Given the description of an element on the screen output the (x, y) to click on. 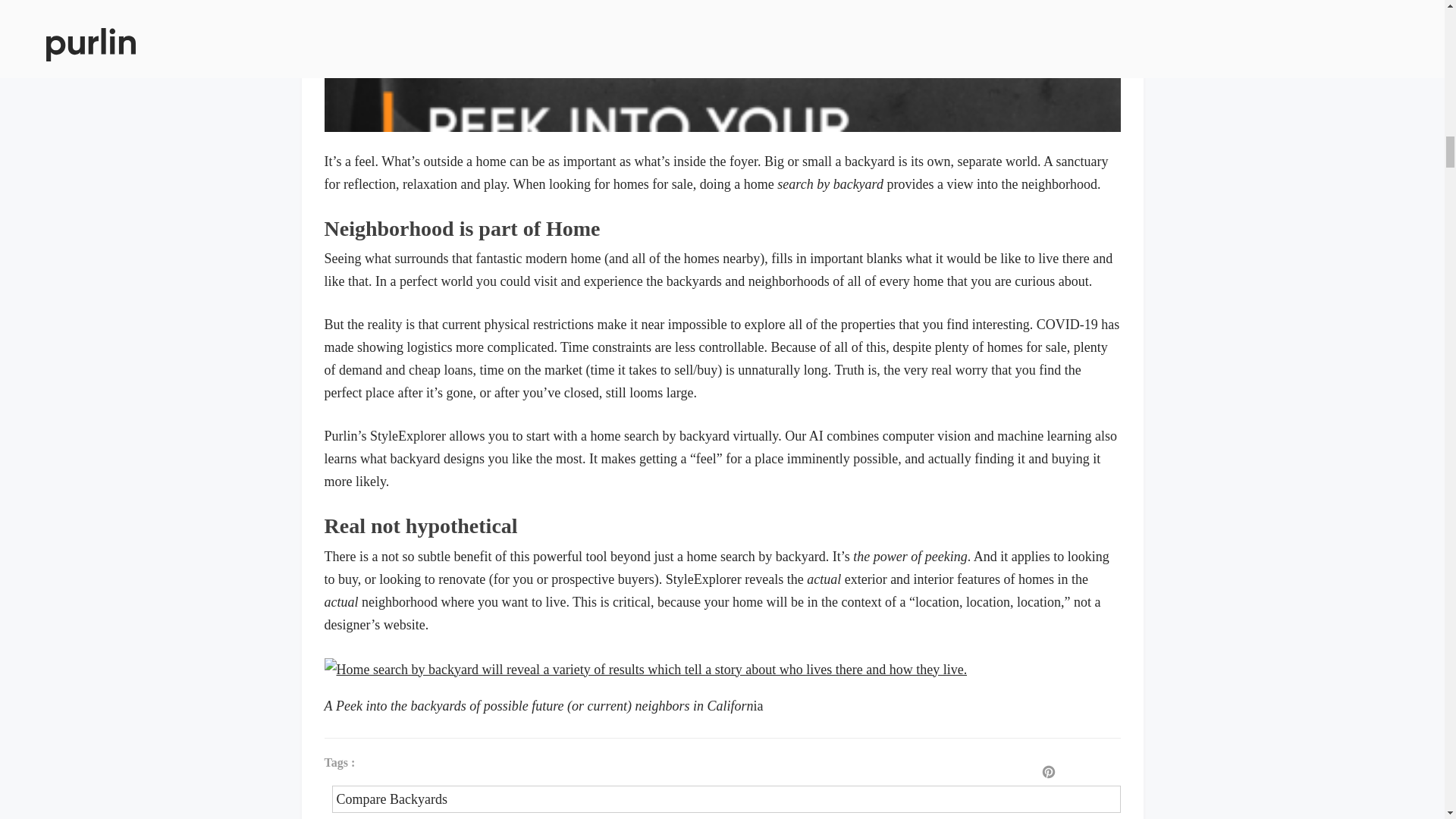
Pinterest (1047, 772)
Pinterest (1047, 772)
Compare Backyards (726, 799)
Facebook (1074, 772)
Facebook (1074, 772)
LinkedIn (1127, 772)
LinkedIn (1127, 772)
Twitter (1101, 772)
Twitter (1101, 772)
